Given the description of an element on the screen output the (x, y) to click on. 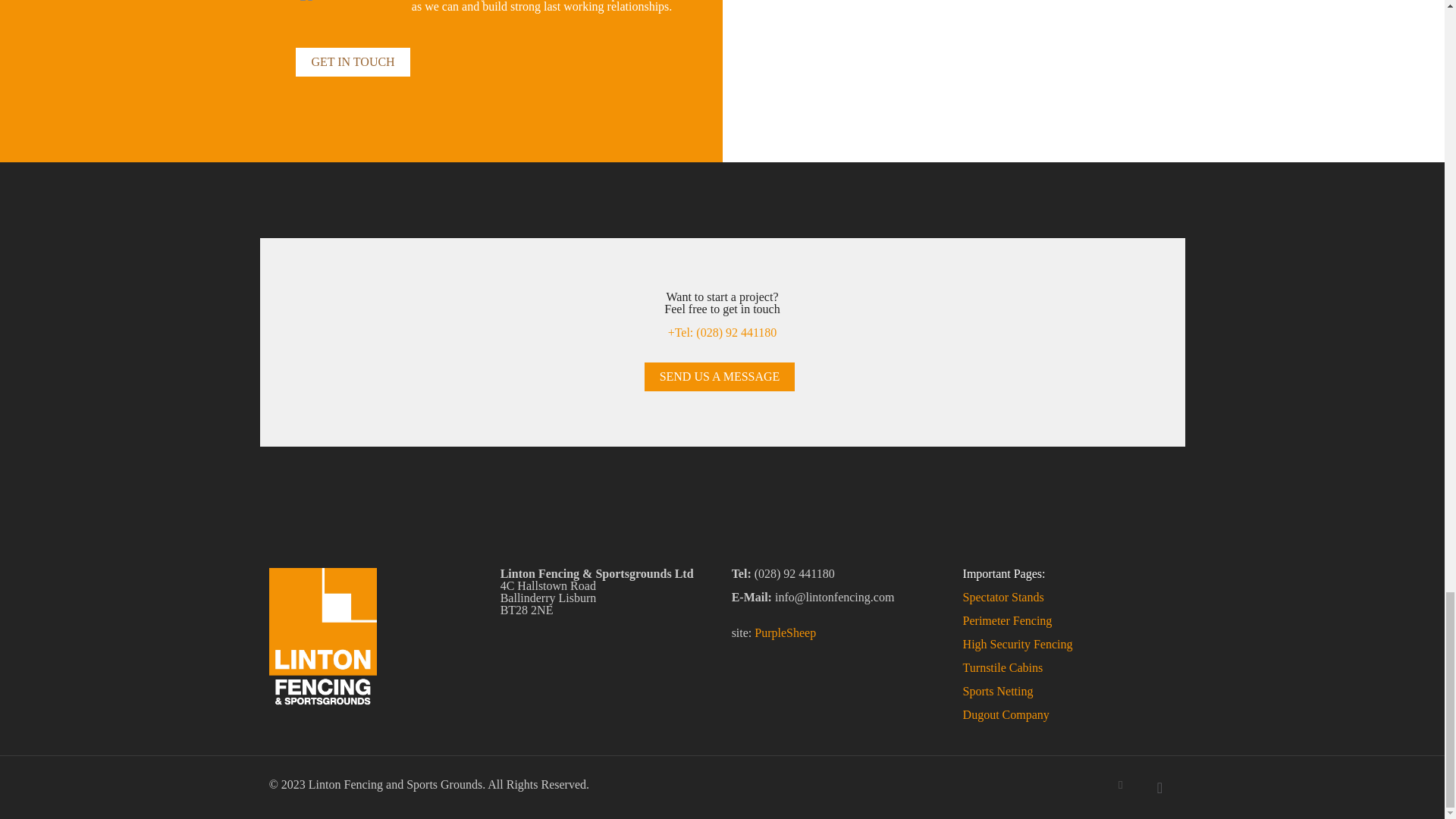
handshake (331, 0)
Perimeter Fencing (1007, 620)
Spectator Stands (1002, 596)
GET IN TOUCH (352, 61)
PurpleSheep (784, 632)
High Security Fencing (1017, 644)
Facebook (1120, 784)
SEND US A MESSAGE (719, 376)
